Given the description of an element on the screen output the (x, y) to click on. 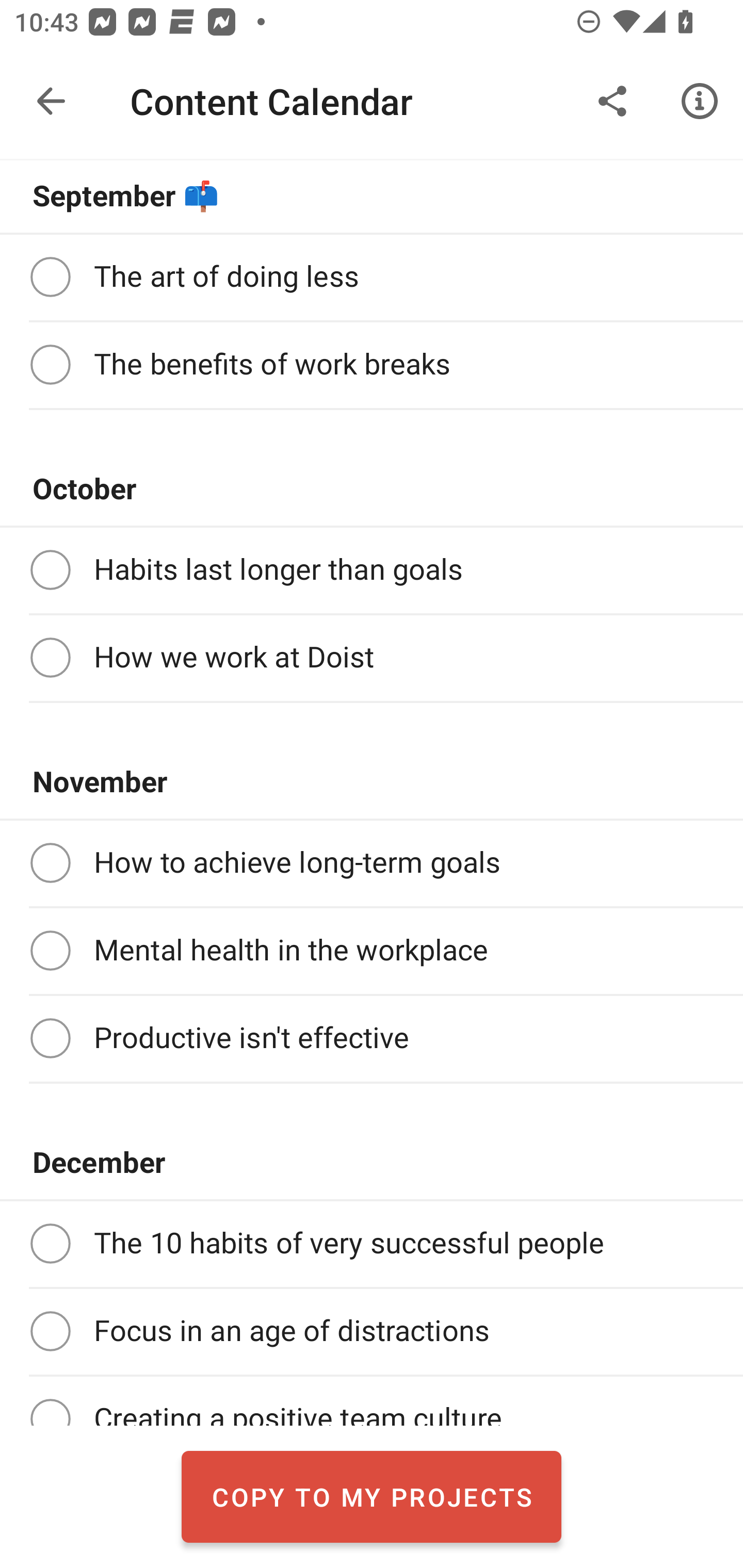
Navigate up (50, 101)
Share (612, 101)
About this template (699, 101)
September 📫 (371, 195)
Complete The art of doing less (371, 277)
Complete (50, 277)
Complete The benefits of work breaks (371, 365)
Complete (50, 364)
October (371, 489)
Complete Habits last longer than goals (371, 570)
Complete (50, 569)
Complete How we work at Doist (371, 657)
Complete (50, 657)
November (371, 782)
Complete How to achieve long-term goals (371, 863)
Complete (50, 862)
Complete Mental health in the workplace (371, 950)
Complete (50, 950)
Complete Productive isn't effective (371, 1038)
Complete (50, 1037)
December (371, 1163)
Complete The 10 habits of very successful people (371, 1244)
Complete (50, 1243)
Complete Focus in an age of distractions (371, 1331)
Complete (50, 1331)
COPY TO MY PROJECTS (371, 1496)
